Given the description of an element on the screen output the (x, y) to click on. 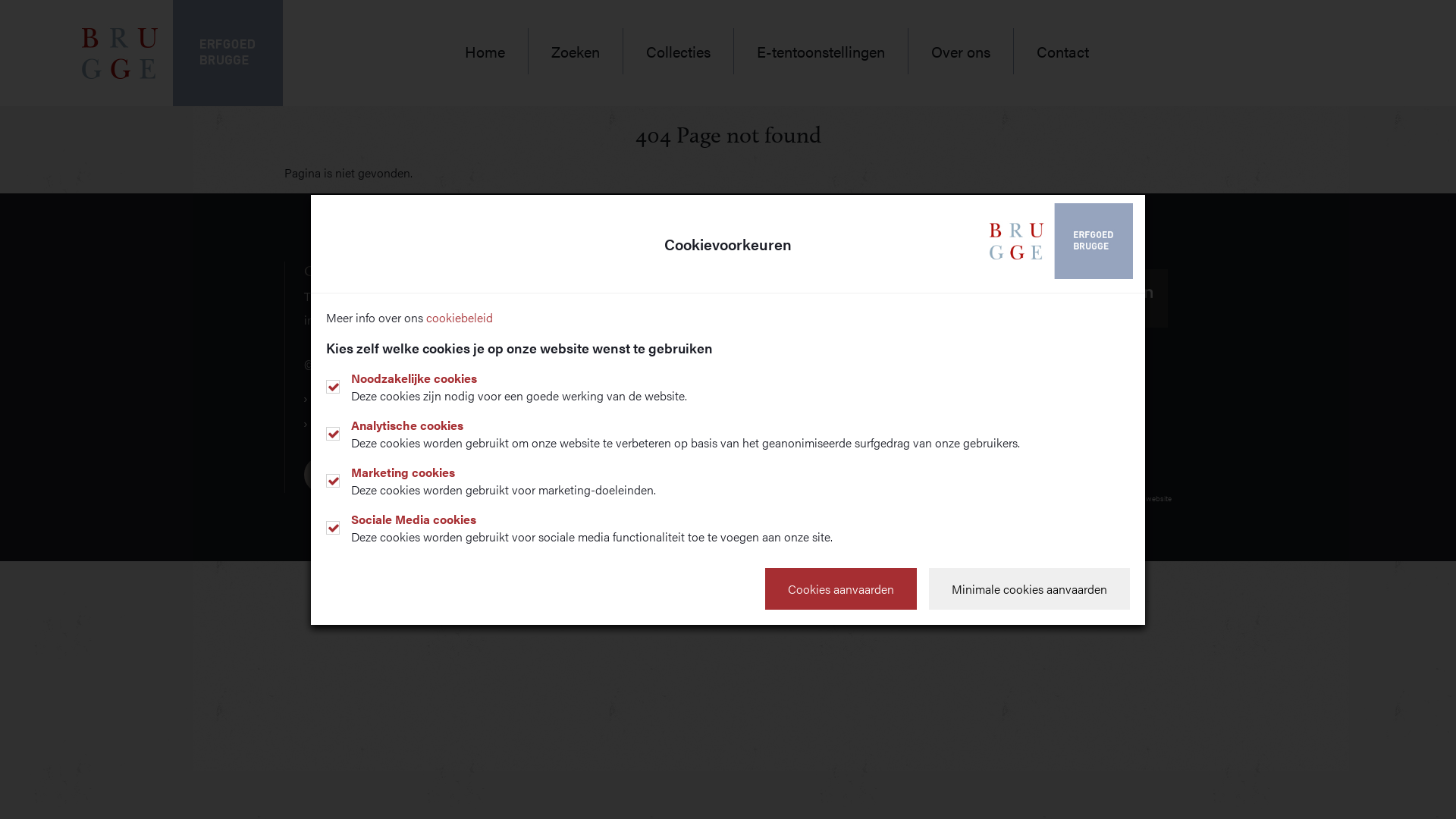
+32 (0)50 32 45 58 Element type: text (363, 295)
Contact Element type: text (1050, 51)
Over ons Element type: text (960, 51)
Zoeken Element type: text (568, 295)
Over ons Element type: text (572, 370)
Dit is een Atlantis erfgoedwebsite Element type: text (1115, 497)
Zoeken Element type: text (575, 51)
Collecties Element type: text (678, 51)
Nieuws Element type: text (568, 395)
info@erfgoedbrugge.be Element type: text (365, 319)
Collecties Element type: text (574, 320)
Archiefbank Brugge steekt in een nieuw meertalig kleedje Element type: text (849, 371)
Een grafkelder van de Sint-Amandskapel Element type: text (851, 405)
Disclaimer Element type: text (338, 424)
Privacy Element type: text (330, 398)
Bekijk overzicht nieuwsberichten Element type: text (832, 431)
E-tentoonstellingen Element type: text (821, 51)
Home Element type: text (496, 51)
Minimale cookies aanvaarden Element type: text (1028, 587)
cookiebeleid Element type: text (459, 316)
Contact Element type: text (569, 420)
Lees de krant van jouw geboortedag! Element type: text (843, 295)
E-tentoonstellingen Element type: text (600, 345)
Cookie voorkeuren Element type: hover (322, 474)
Cookies aanvaarden Element type: text (840, 587)
